Given the description of an element on the screen output the (x, y) to click on. 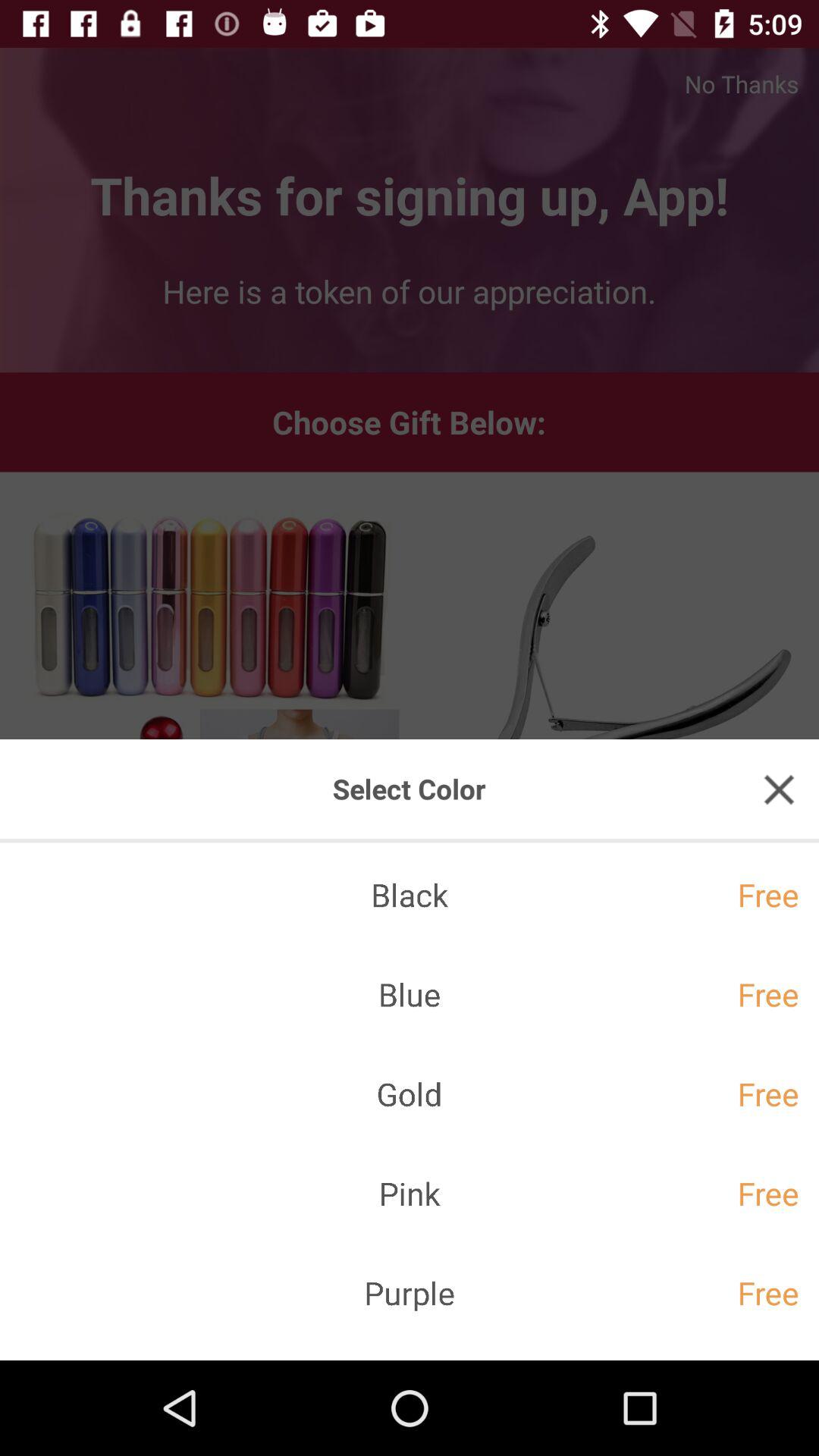
close the window (779, 788)
